Given the description of an element on the screen output the (x, y) to click on. 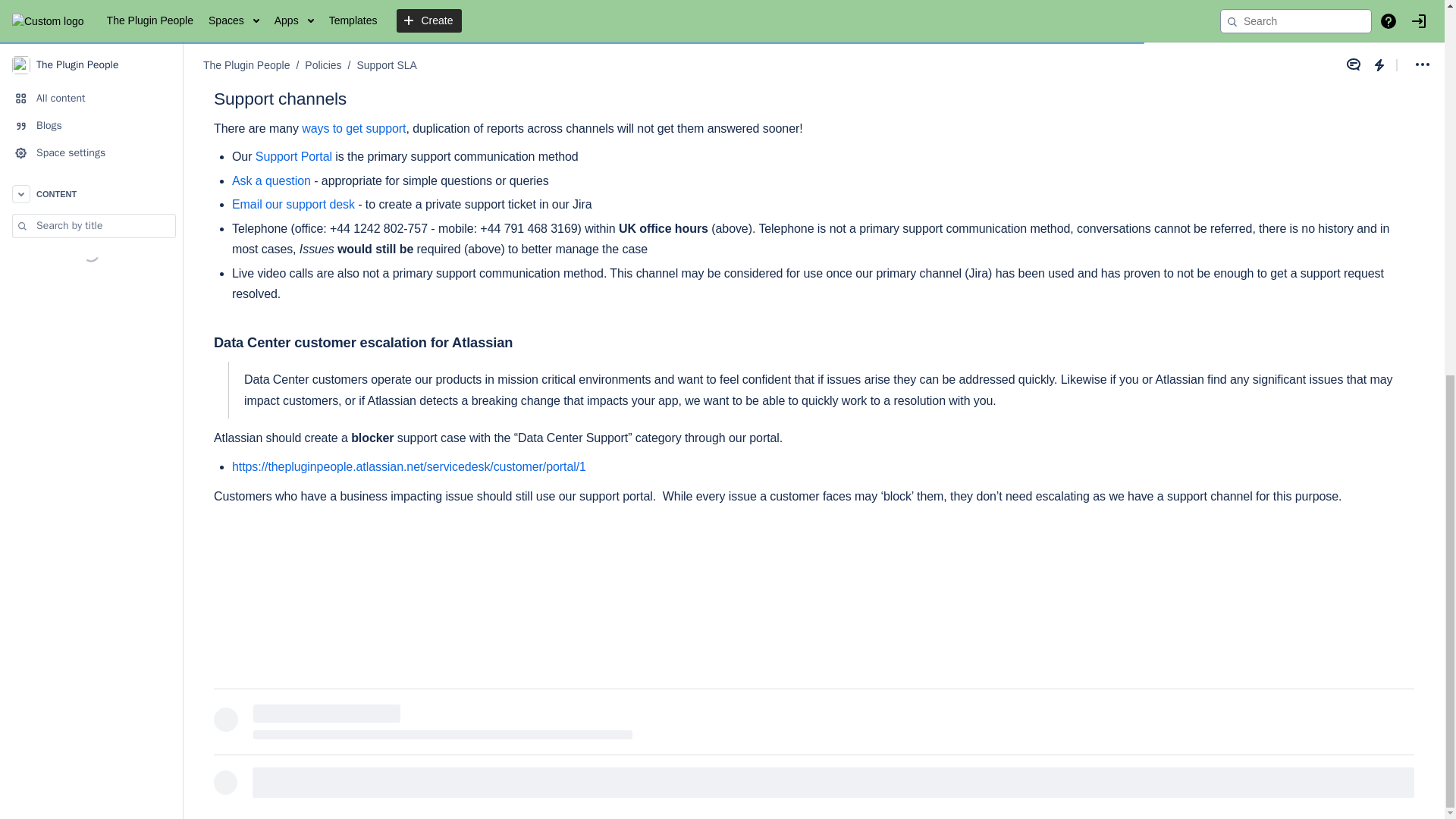
ways to get support (353, 128)
Ask a question (271, 180)
Email our support desk (293, 204)
Support Portal (293, 155)
